Given the description of an element on the screen output the (x, y) to click on. 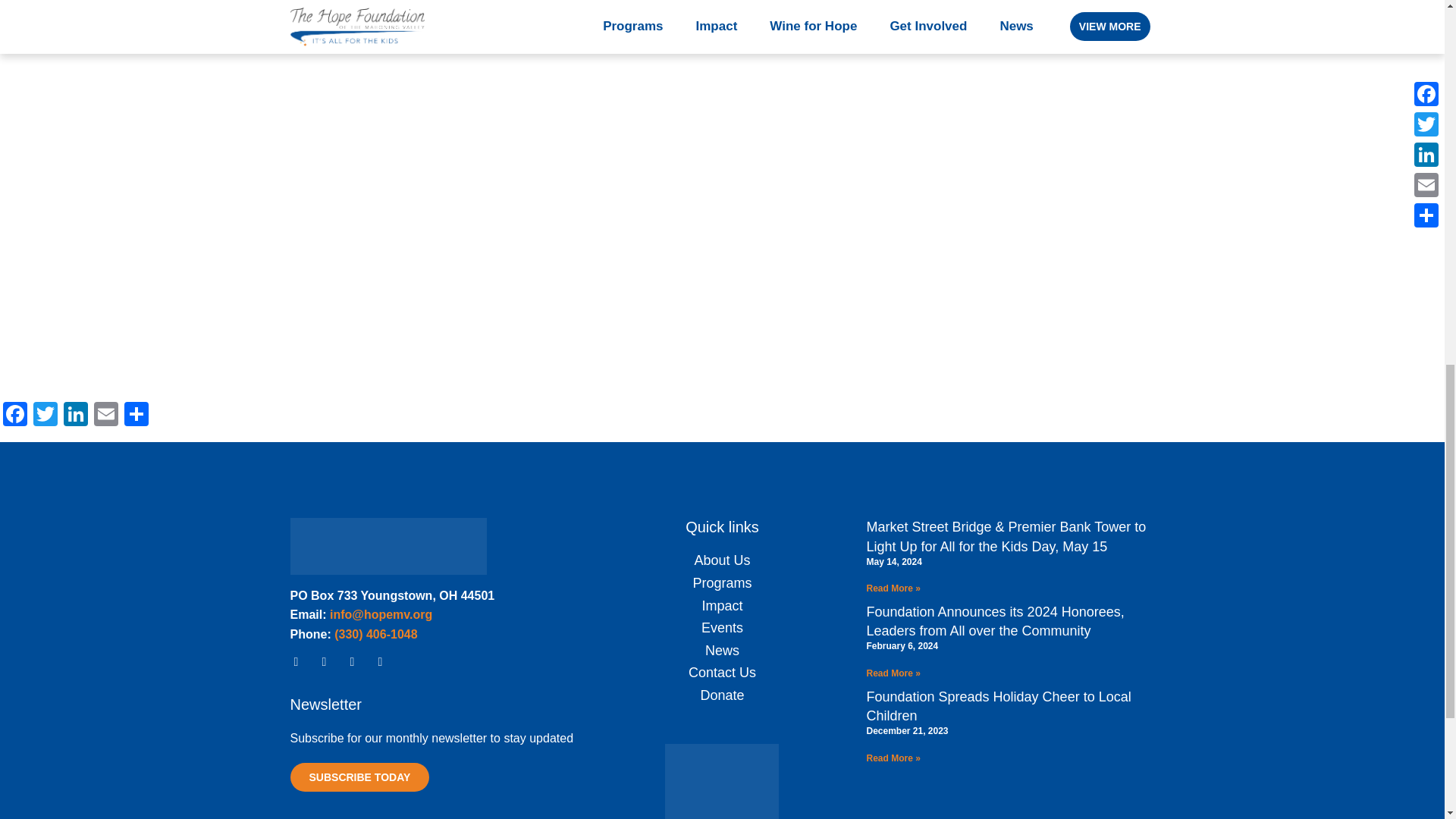
Email (105, 415)
Twitter (45, 415)
Facebook (15, 415)
LinkedIn (75, 415)
